Given the description of an element on the screen output the (x, y) to click on. 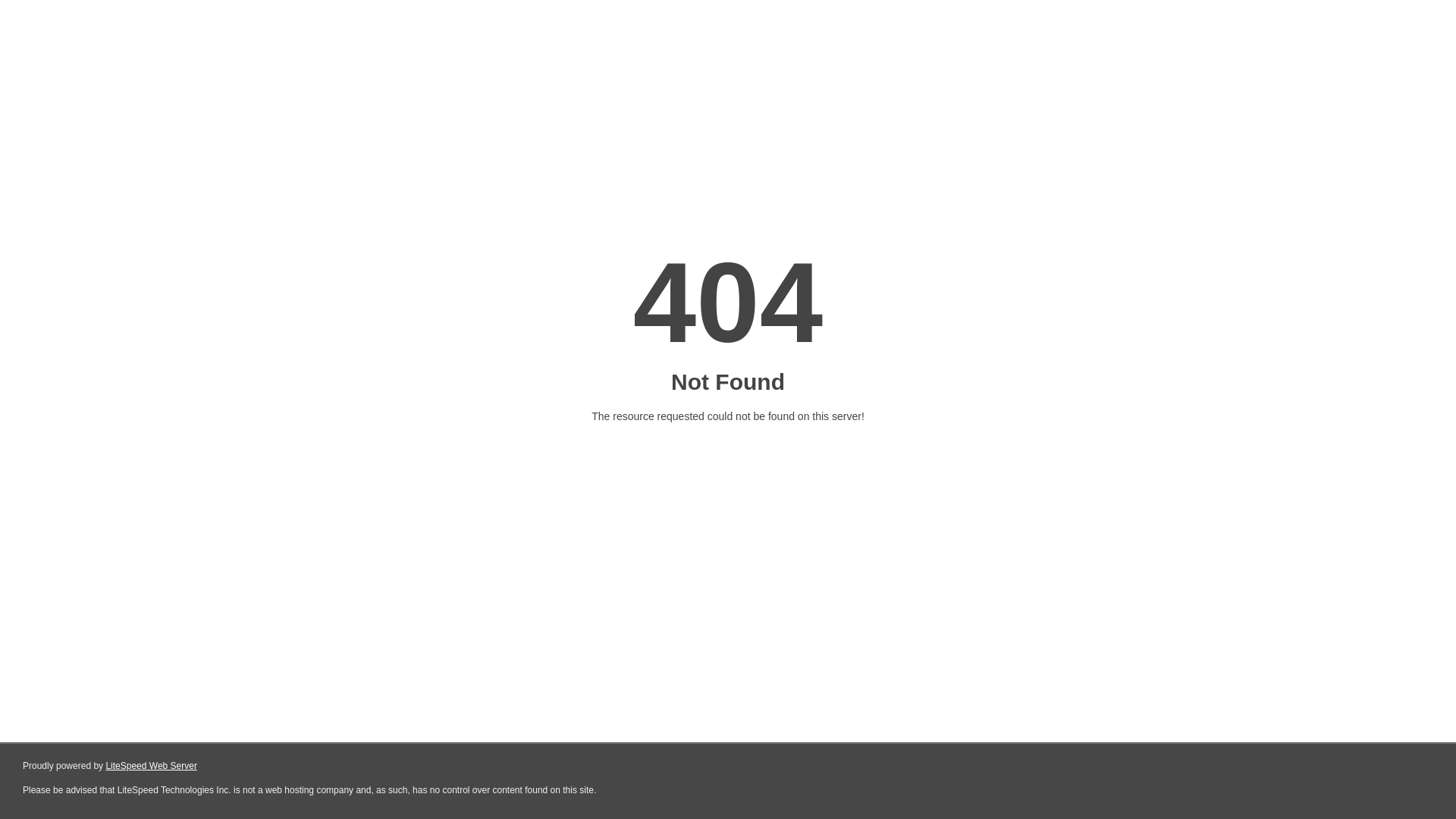
LiteSpeed Web Server Element type: text (151, 765)
